Given the description of an element on the screen output the (x, y) to click on. 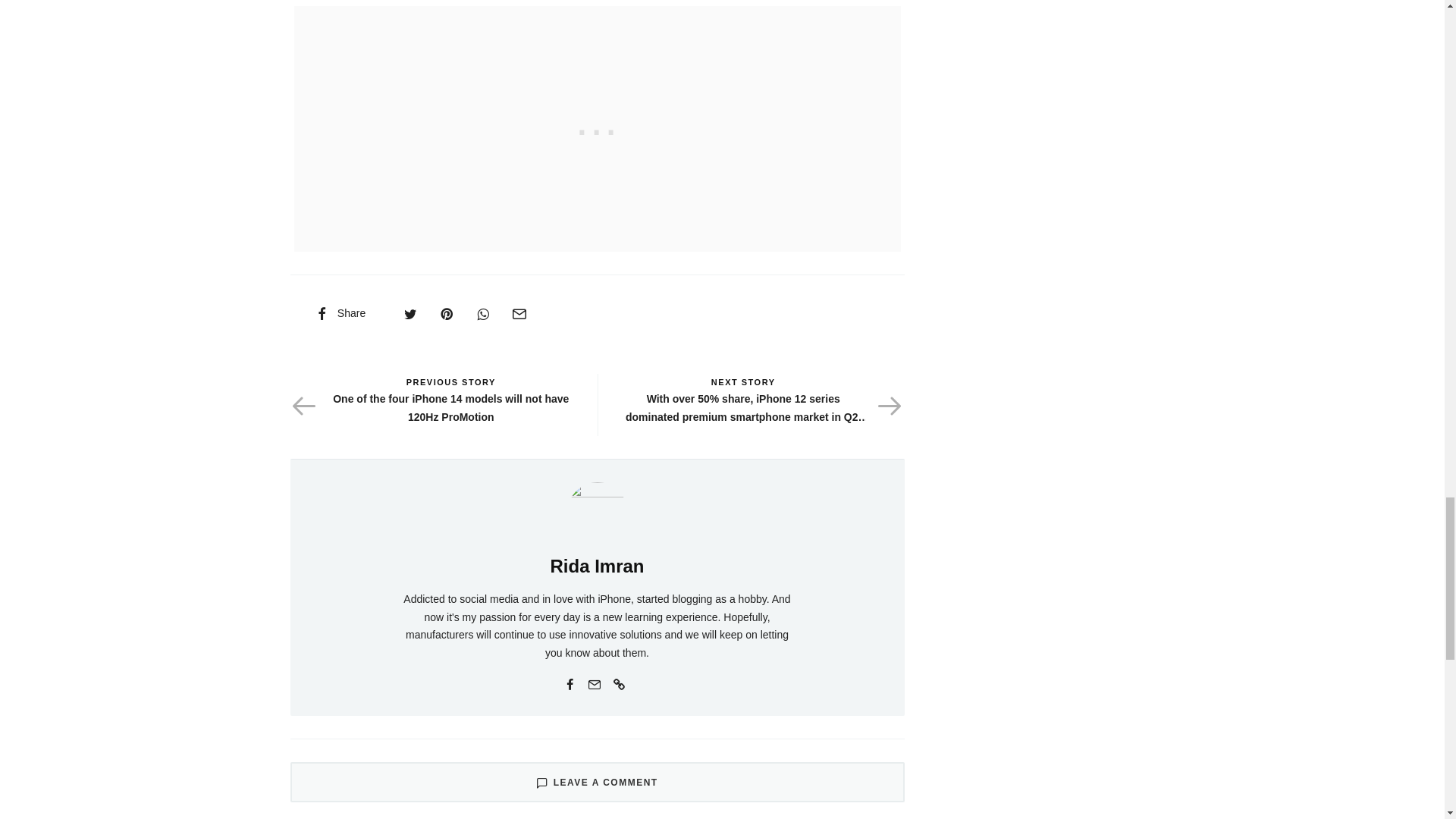
Pin this Post (445, 313)
Share on Whatsapp (482, 313)
Share via Email (518, 313)
Share on Twitter (409, 313)
Share on Facebook (338, 313)
